Given the description of an element on the screen output the (x, y) to click on. 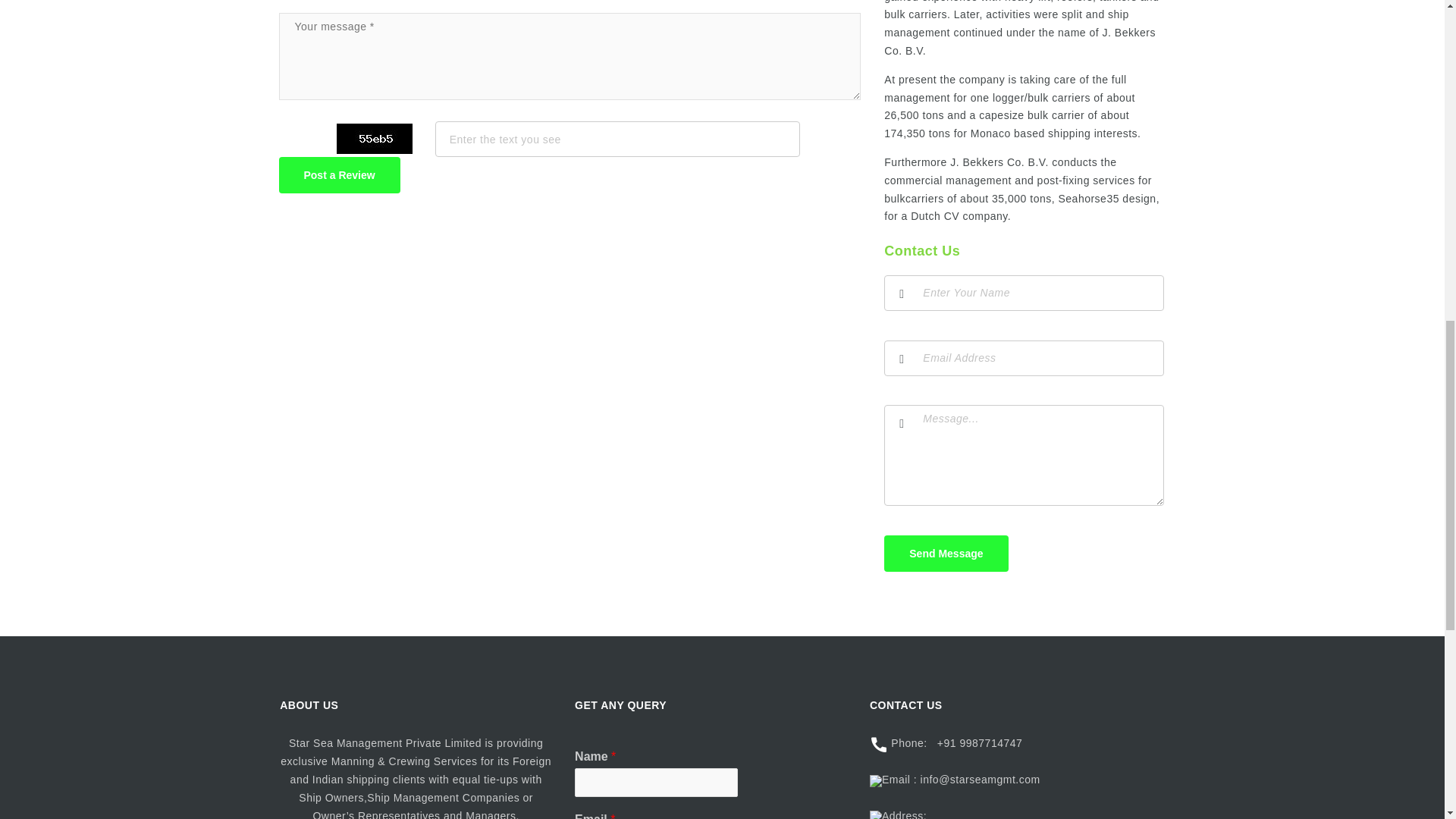
Post a Review (339, 175)
Send Message (945, 553)
